Given the description of an element on the screen output the (x, y) to click on. 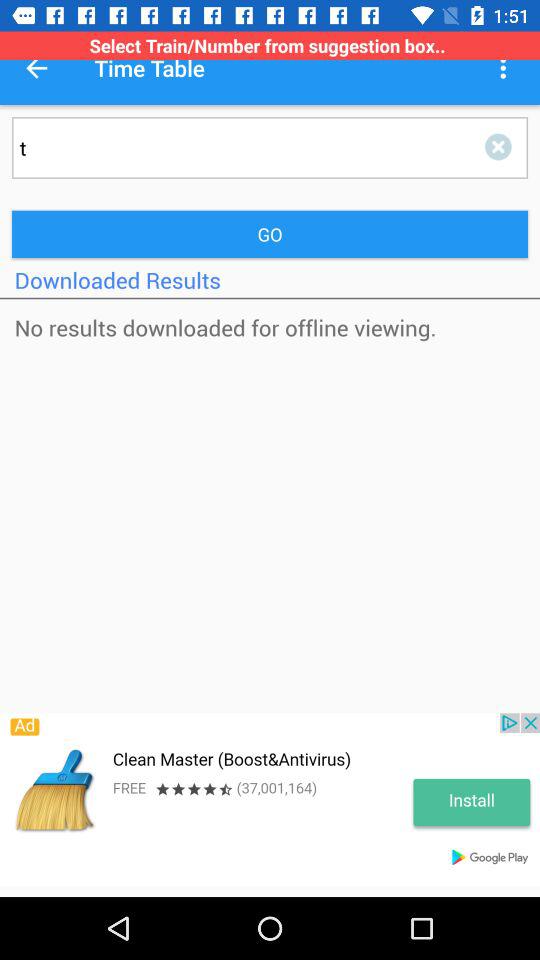
delete (502, 147)
